Given the description of an element on the screen output the (x, y) to click on. 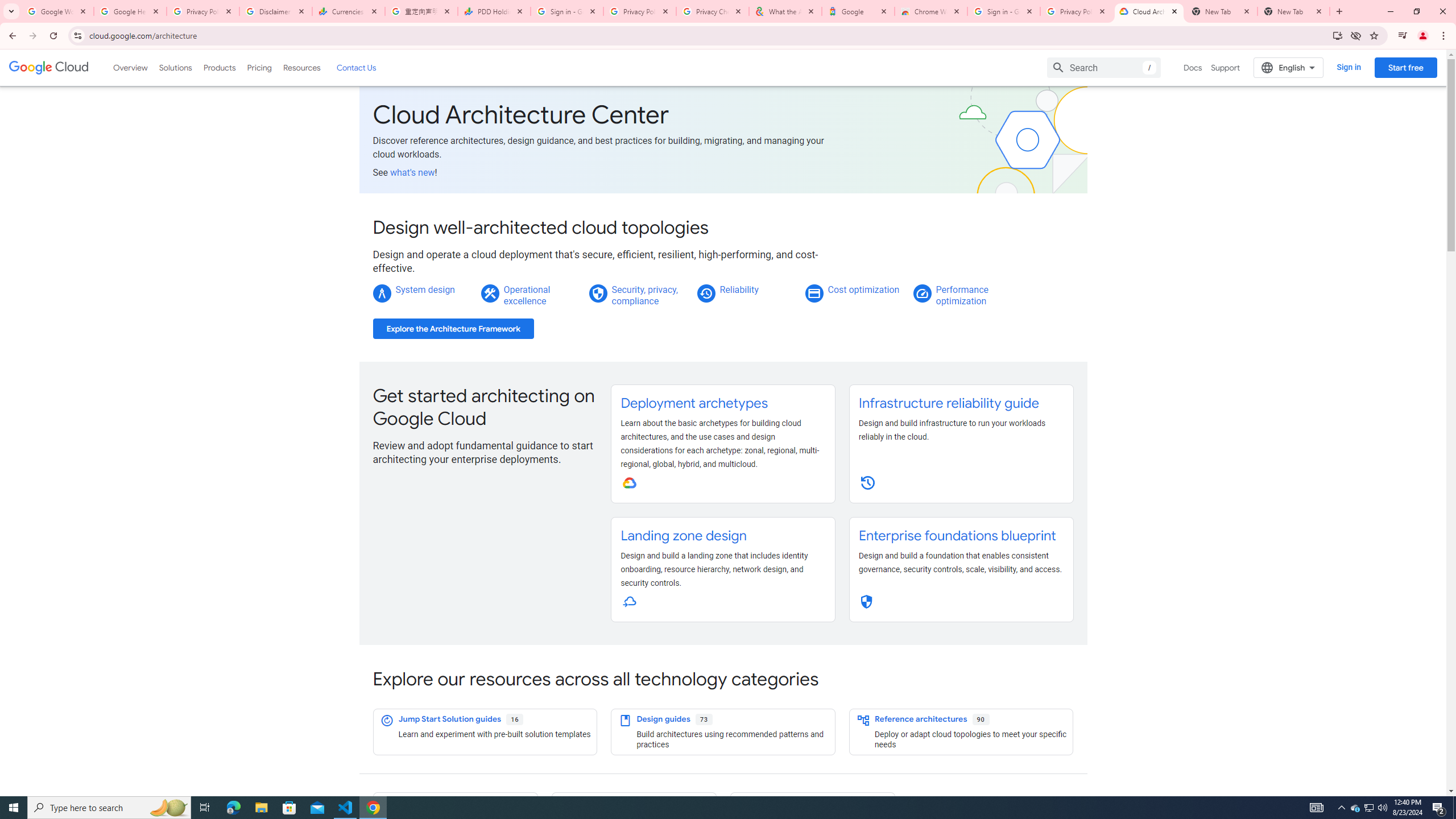
Cost optimization (863, 289)
Sign in - Google Accounts (1003, 11)
Install Google Cloud (1336, 35)
Pricing (259, 67)
New Tab (1293, 11)
English (1288, 67)
Google Workspace Admin Community (57, 11)
Products (218, 67)
